Given the description of an element on the screen output the (x, y) to click on. 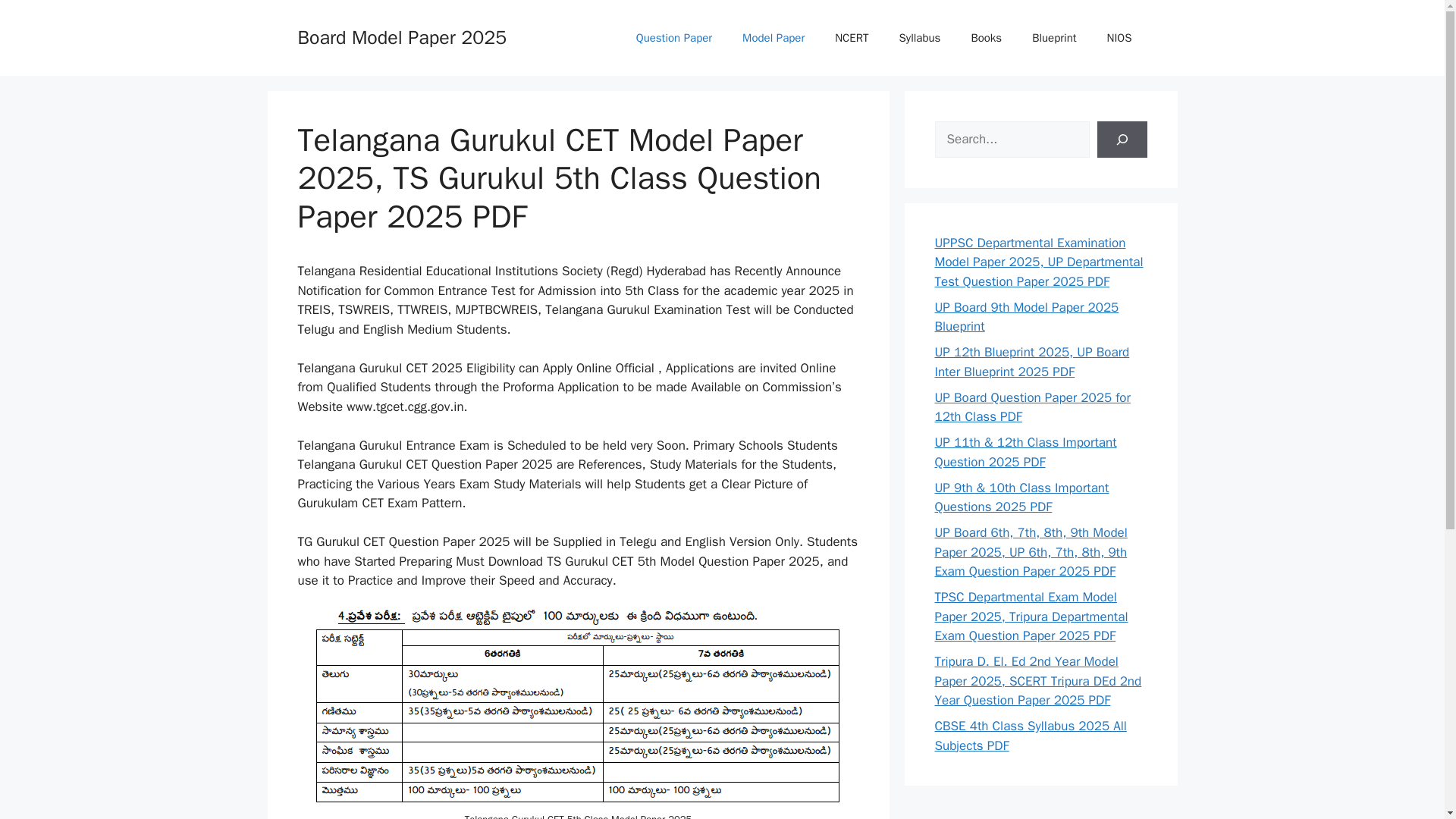
UP 12th Blueprint 2025, UP Board Inter Blueprint 2025 PDF (1031, 361)
Question Paper (673, 37)
CBSE 4th Class Syllabus 2025 All Subjects PDF (1029, 735)
UP Board 9th Model Paper 2025 Blueprint (1026, 316)
NCERT (851, 37)
Books (985, 37)
UP Board Question Paper 2025 for 12th Class PDF (1031, 407)
Syllabus (919, 37)
